Given the description of an element on the screen output the (x, y) to click on. 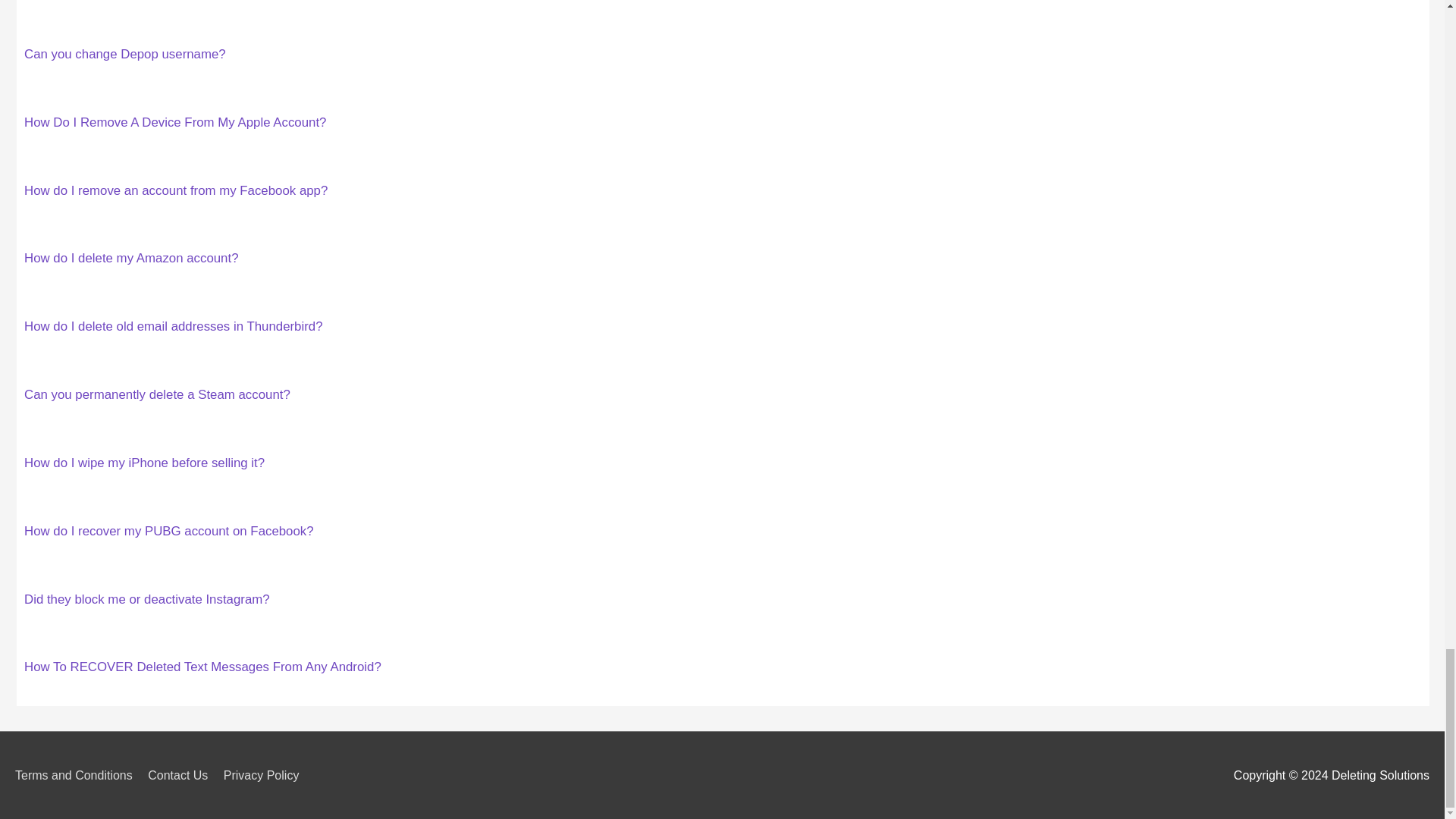
Privacy Policy (267, 775)
How do I delete old email addresses in Thunderbird? (173, 326)
How do I delete my Amazon account? (131, 257)
Can you change Depop username? (124, 53)
How Do I Remove A Device From My Apple Account? (175, 122)
Contact Us (183, 775)
Can you permanently delete a Steam account? (156, 394)
Did they block me or deactivate Instagram? (146, 599)
How do I wipe my iPhone before selling it? (144, 462)
How do I remove an account from my Facebook app? (175, 190)
